Given the description of an element on the screen output the (x, y) to click on. 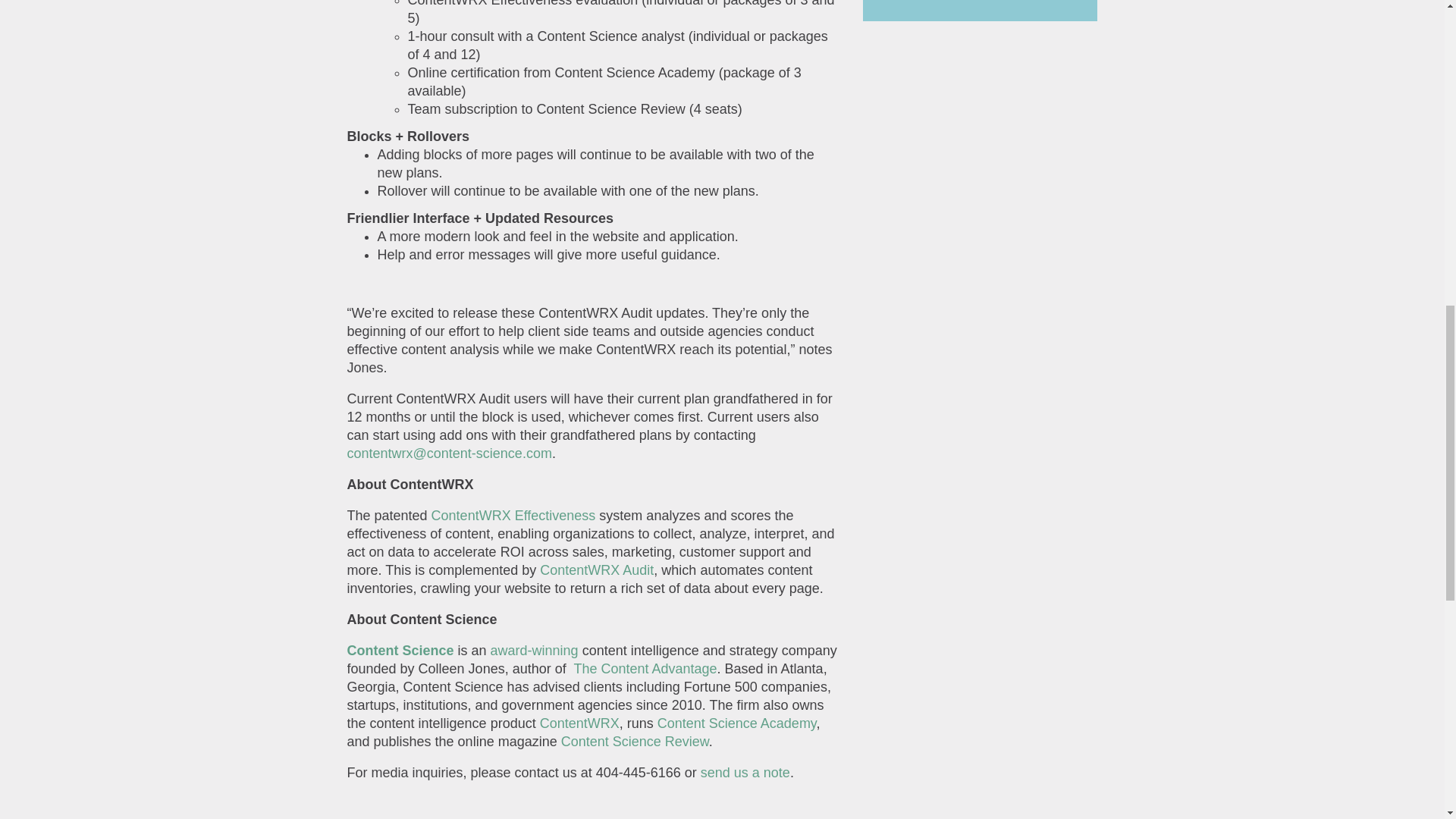
ContentWRX Effectiveness (512, 515)
